Given the description of an element on the screen output the (x, y) to click on. 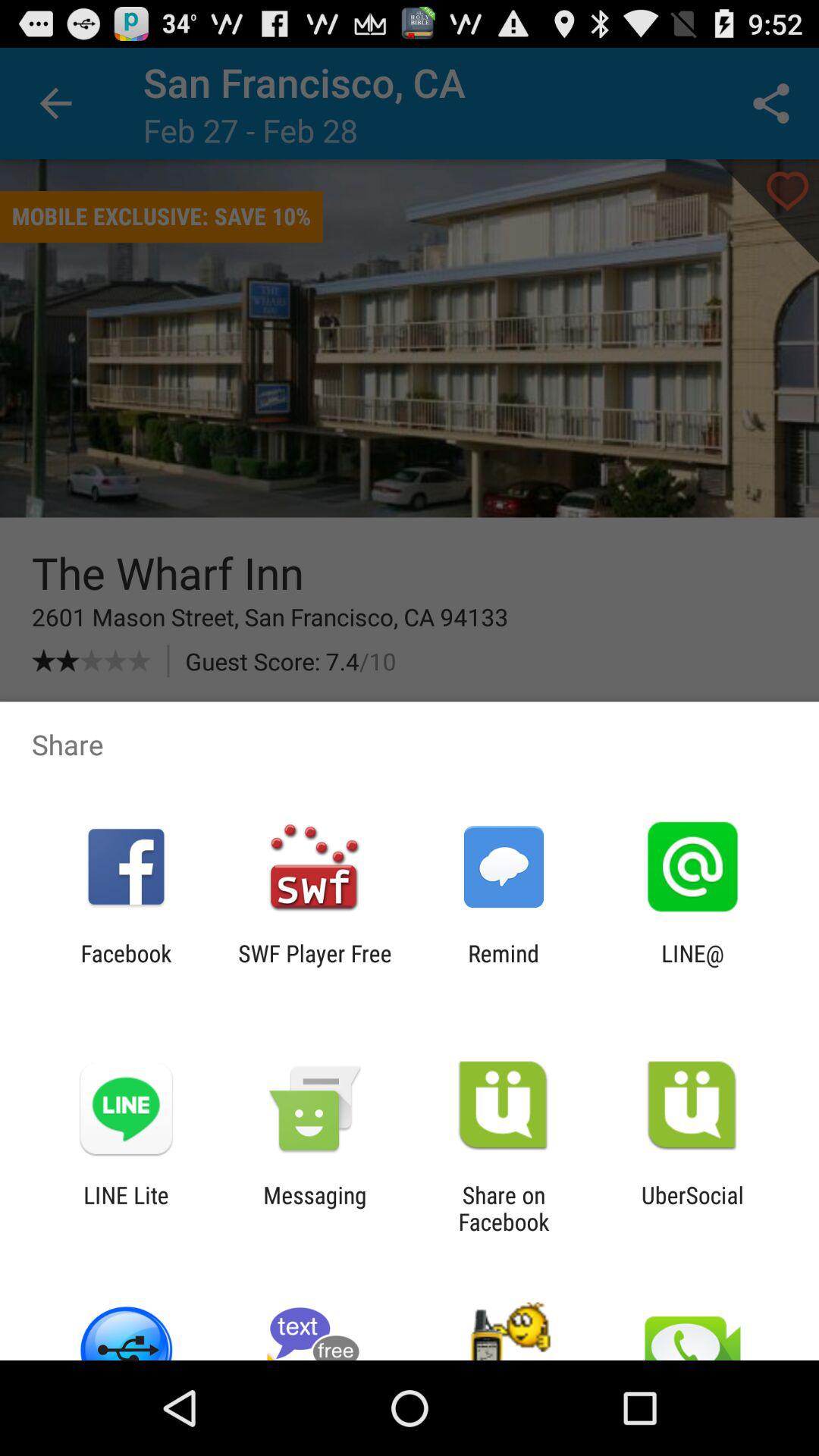
select ubersocial app (692, 1208)
